Given the description of an element on the screen output the (x, y) to click on. 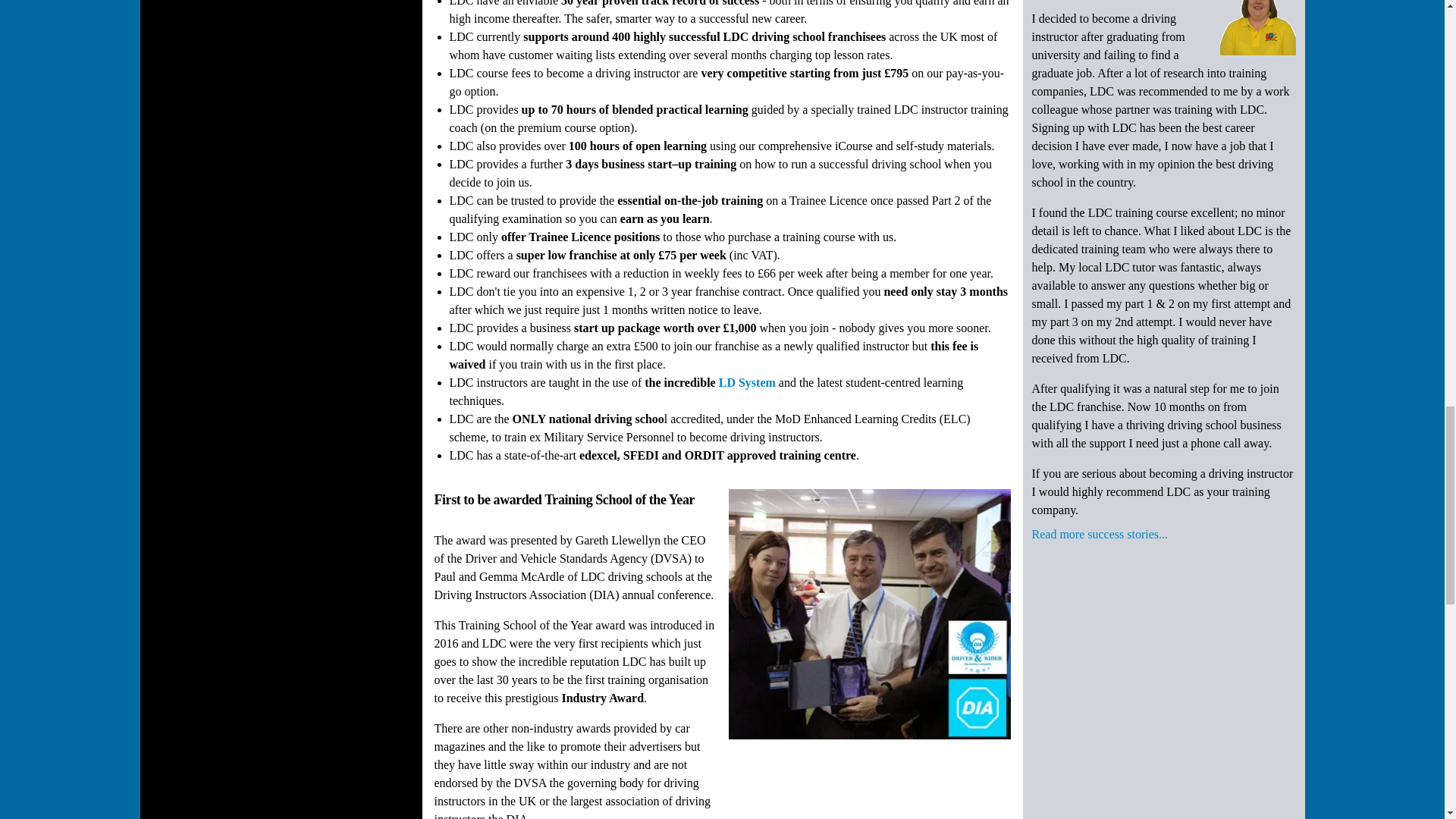
Susan Success Story (1257, 27)
More success stories (1098, 537)
